Given the description of an element on the screen output the (x, y) to click on. 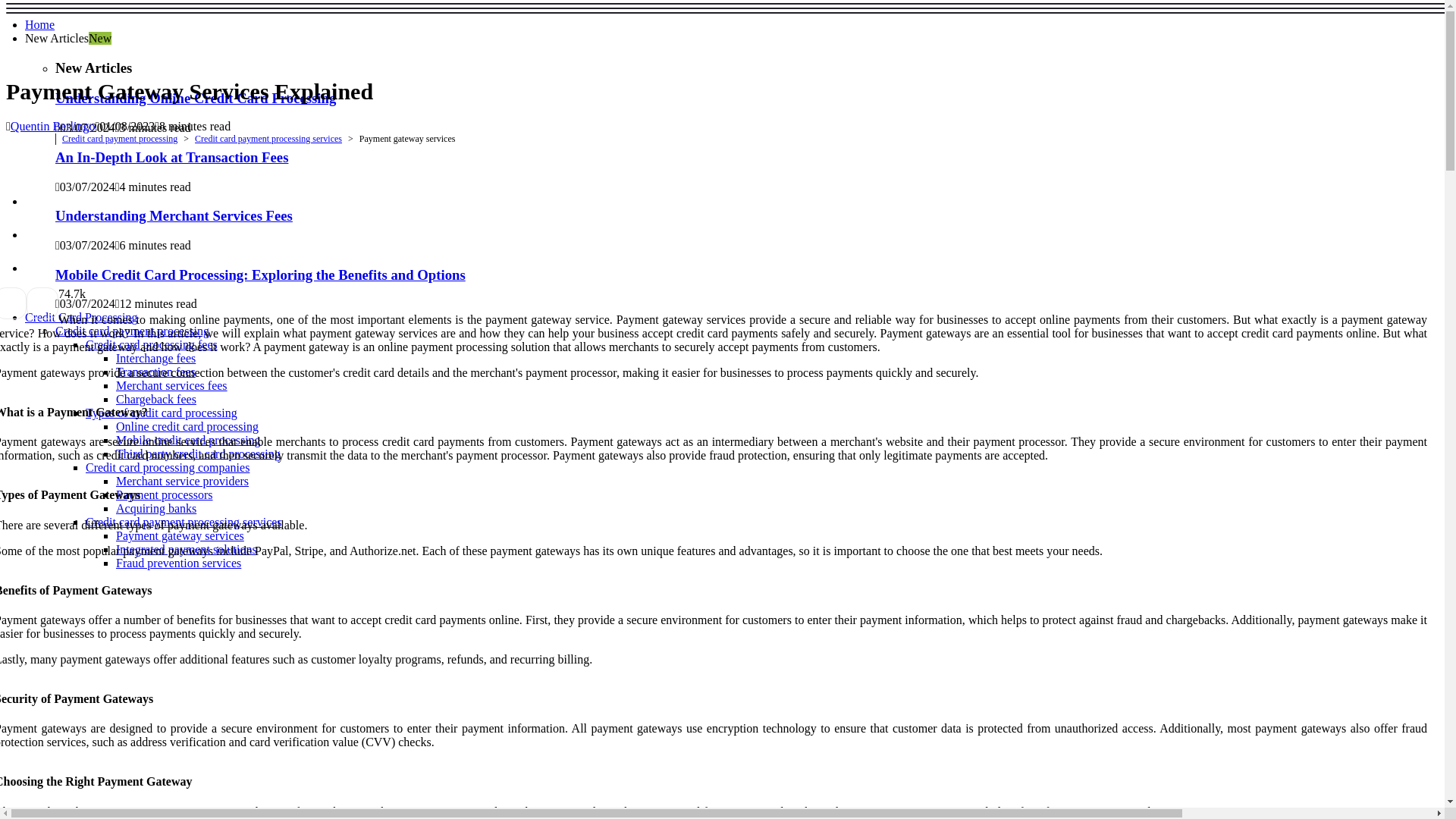
Transaction fees (155, 371)
Fraud prevention services (178, 562)
Merchant service providers (182, 481)
Credit card processing companies (166, 467)
Chargeback fees (156, 399)
Understanding Online Credit Card Processing (195, 98)
Types of credit card processing (161, 412)
Payment gateway services (180, 535)
Credit Card Processing (80, 317)
Credit card processing fees (150, 344)
